Given the description of an element on the screen output the (x, y) to click on. 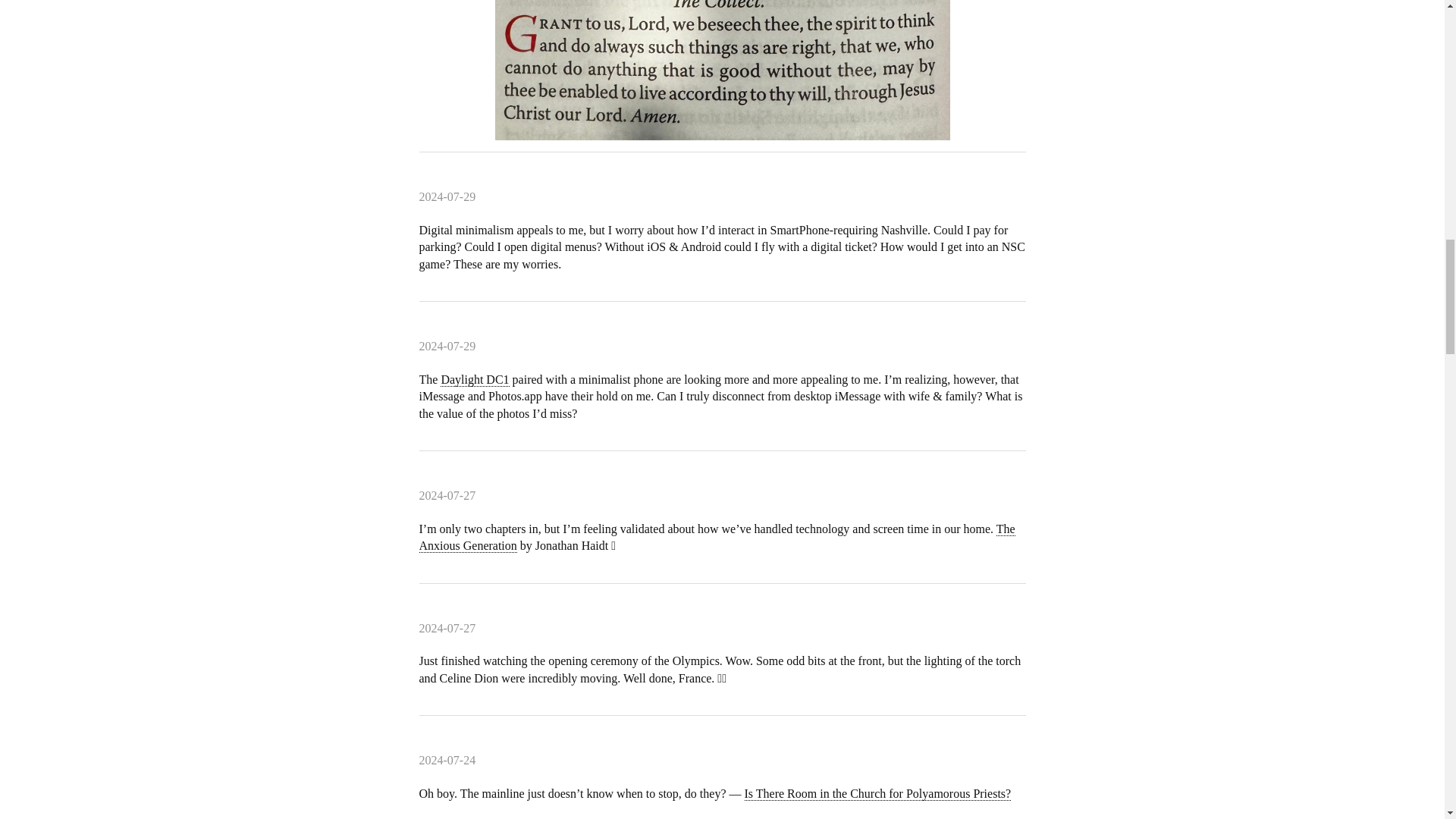
Daylight DC1 (474, 379)
2024-07-27 (447, 628)
2024-07-27 (447, 495)
Is There Room in the Church for Polyamorous Priests? (877, 793)
2024-07-29 (447, 197)
2024-07-24 (447, 760)
2024-07-29 (447, 346)
The Anxious Generation (716, 537)
